Given the description of an element on the screen output the (x, y) to click on. 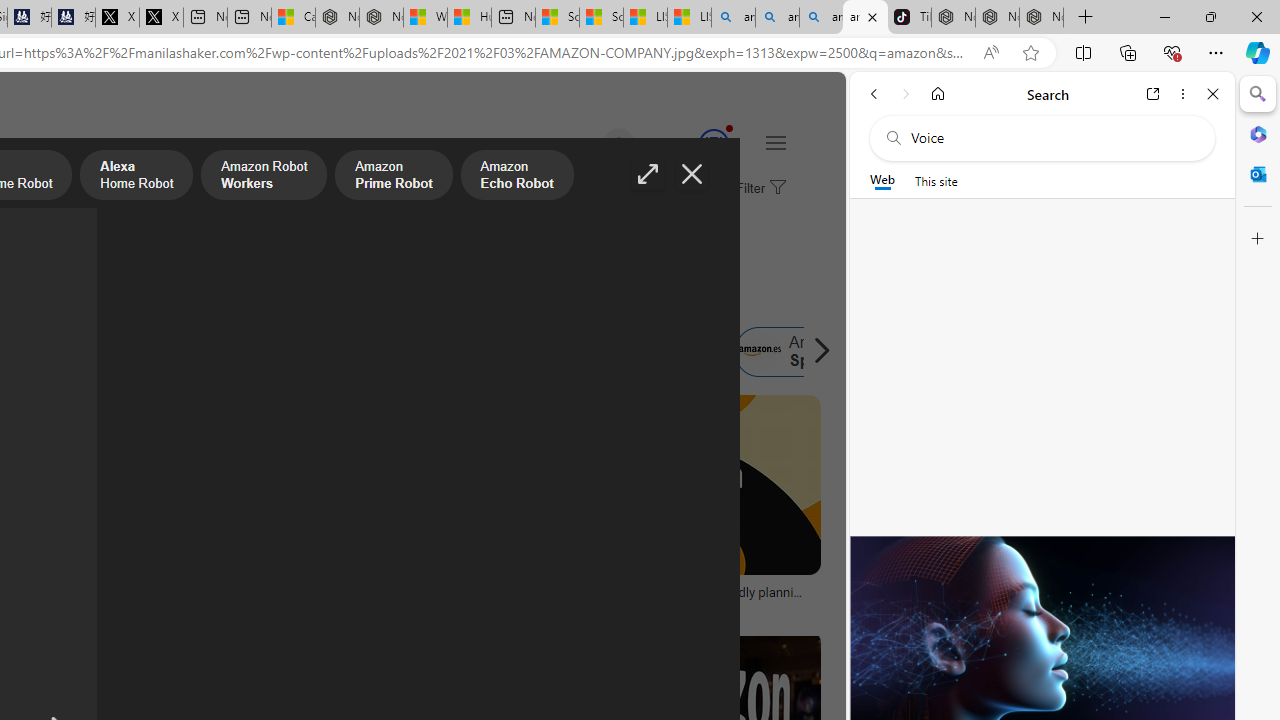
Web scope (882, 180)
Nordace - Siena Pro 15 Essential Set (1041, 17)
Outlook (1258, 174)
Home (938, 93)
Search the web (1051, 137)
More options (1182, 93)
downdetector.ae (249, 605)
Amazon Shoes (659, 351)
Image result for amazon (685, 485)
